Given the description of an element on the screen output the (x, y) to click on. 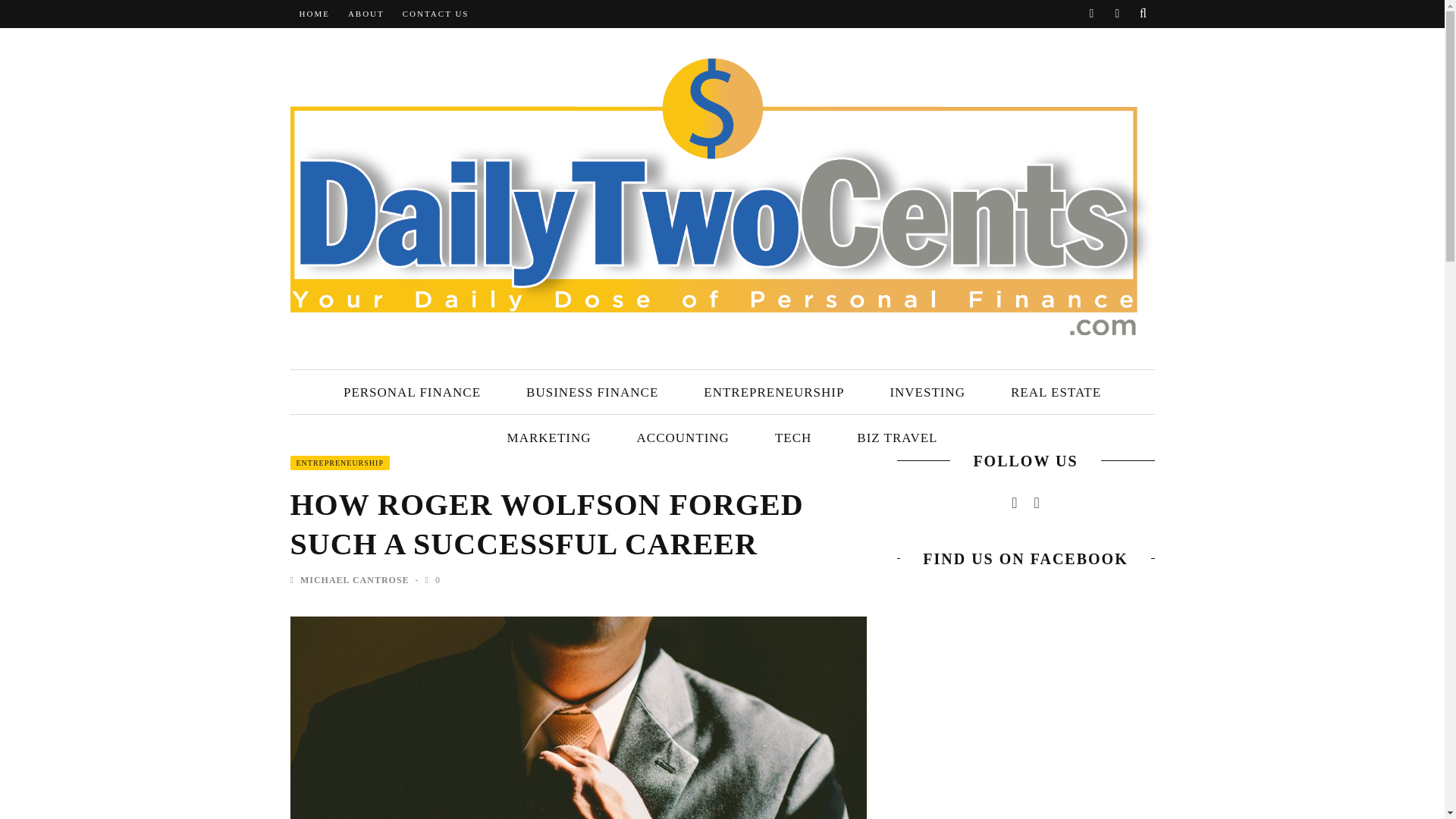
INVESTING (927, 392)
HOME (313, 13)
TECH (793, 438)
CONTACT US (435, 13)
Posts by Michael Cantrose (354, 579)
ACCOUNTING (683, 438)
MICHAEL CANTROSE (354, 579)
REAL ESTATE (1056, 392)
BIZ TRAVEL (896, 438)
BUSINESS FINANCE (592, 392)
ENTREPRENEURSHIP (773, 392)
PERSONAL FINANCE (411, 392)
ENTREPRENEURSHIP (338, 462)
ABOUT (365, 13)
MARKETING (549, 438)
